Given the description of an element on the screen output the (x, y) to click on. 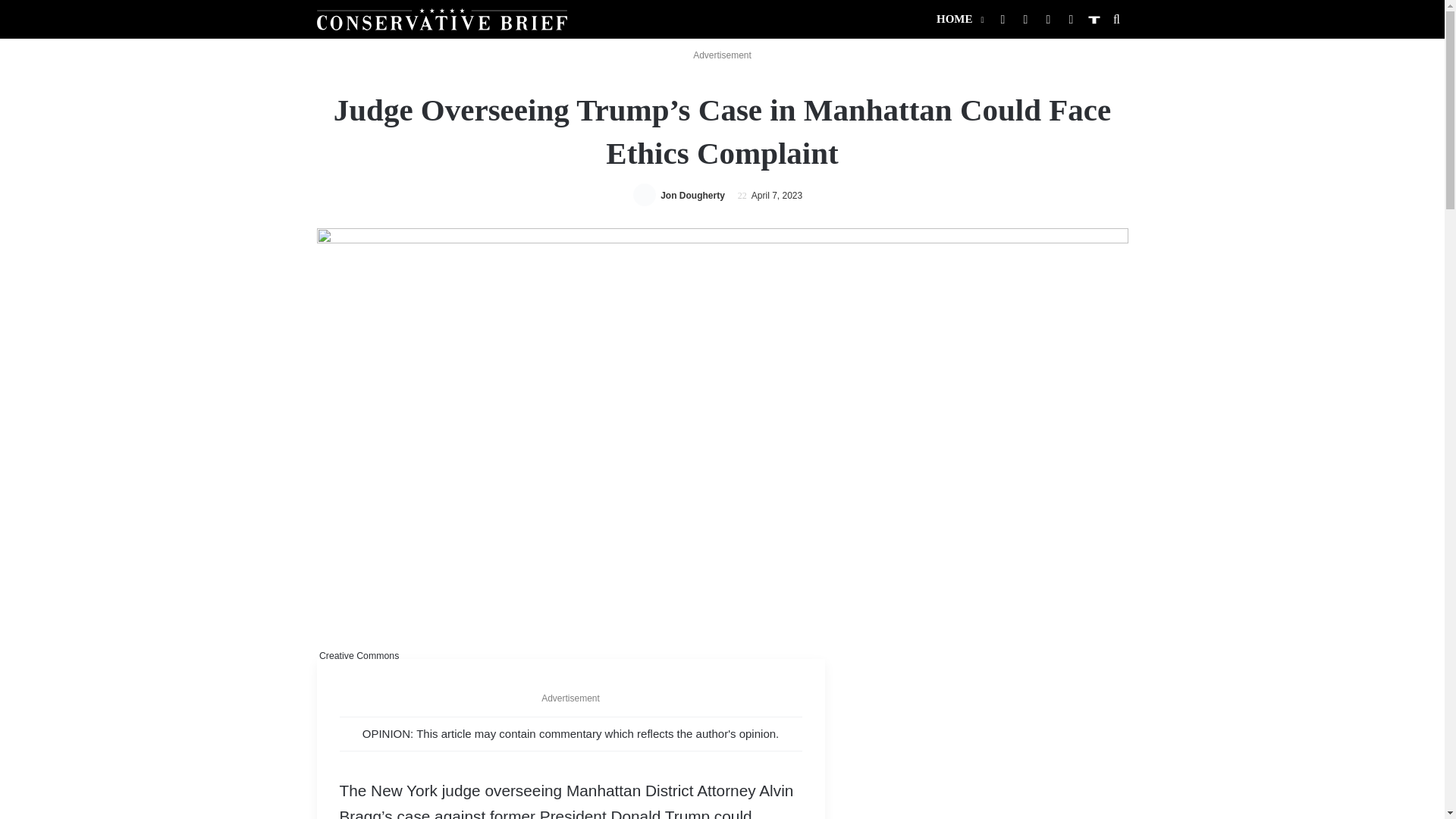
Jon Dougherty (693, 195)
Jon Dougherty (693, 195)
HOME (958, 19)
Conservative Brief (442, 19)
